Given the description of an element on the screen output the (x, y) to click on. 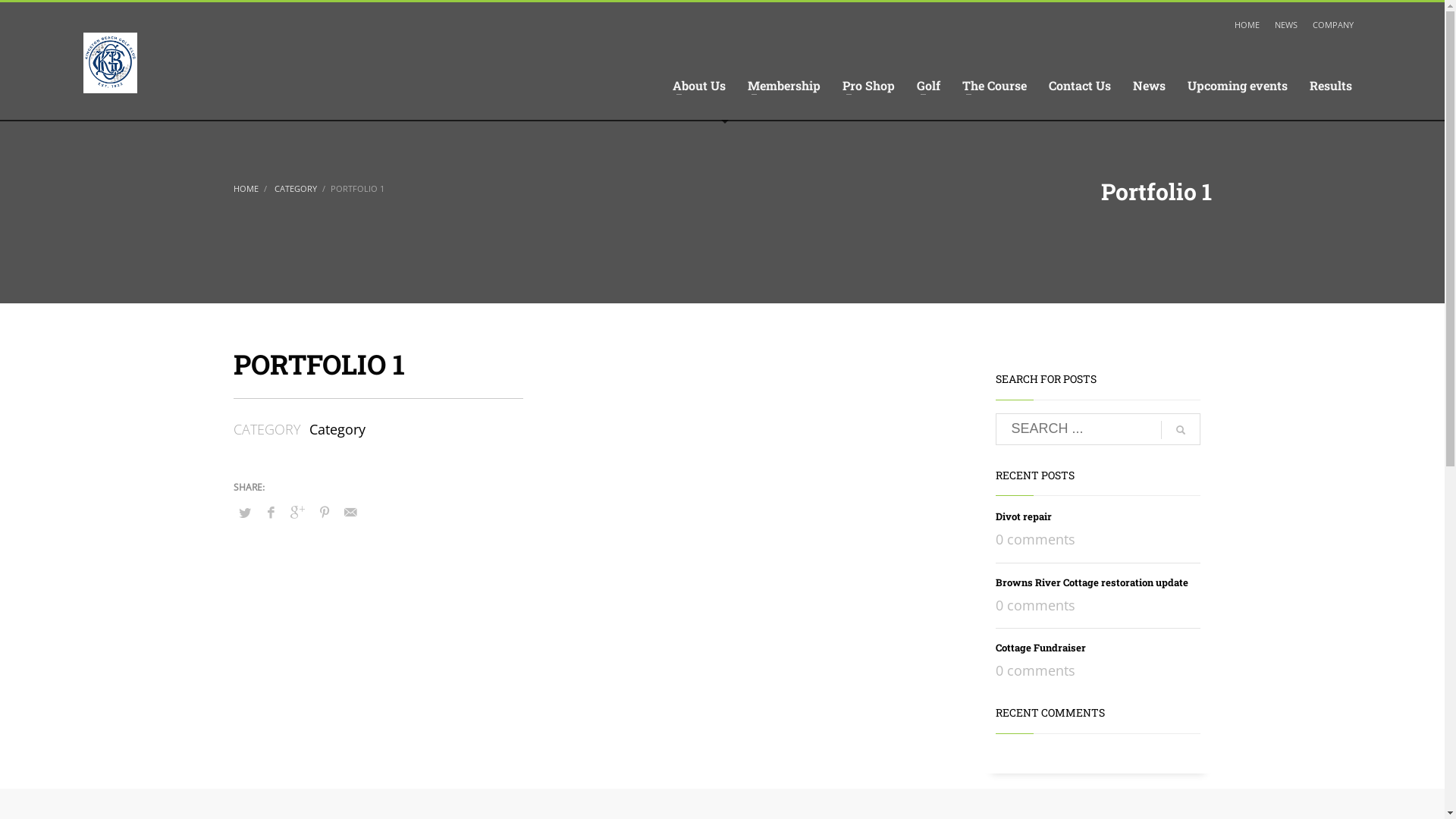
Results Element type: text (1330, 85)
SHARE ON MAIL Element type: hover (350, 511)
Membership Element type: text (783, 85)
SHARE ON PINTEREST Element type: hover (323, 511)
SHARE ON TWITTER Element type: hover (244, 512)
Cottage Fundraiser Element type: text (1039, 647)
Golf Element type: text (928, 85)
HOME Element type: text (245, 188)
Browns River Cottage restoration update Element type: text (1090, 582)
CATEGORY Element type: text (293, 188)
SHARE ON FACEBOOK Element type: hover (270, 511)
Upcoming events Element type: text (1237, 85)
Category Element type: text (337, 429)
go Element type: text (1179, 429)
Contact Us Element type: text (1079, 85)
SHARE ON GPLUS Element type: hover (297, 511)
COMPANY Element type: text (1332, 24)
The Course Element type: text (994, 85)
About Us Element type: text (698, 85)
Divot repair Element type: text (1022, 516)
Pro Shop Element type: text (868, 85)
NEWS Element type: text (1285, 24)
HOME Element type: text (1246, 24)
News Element type: text (1148, 85)
